Given the description of an element on the screen output the (x, y) to click on. 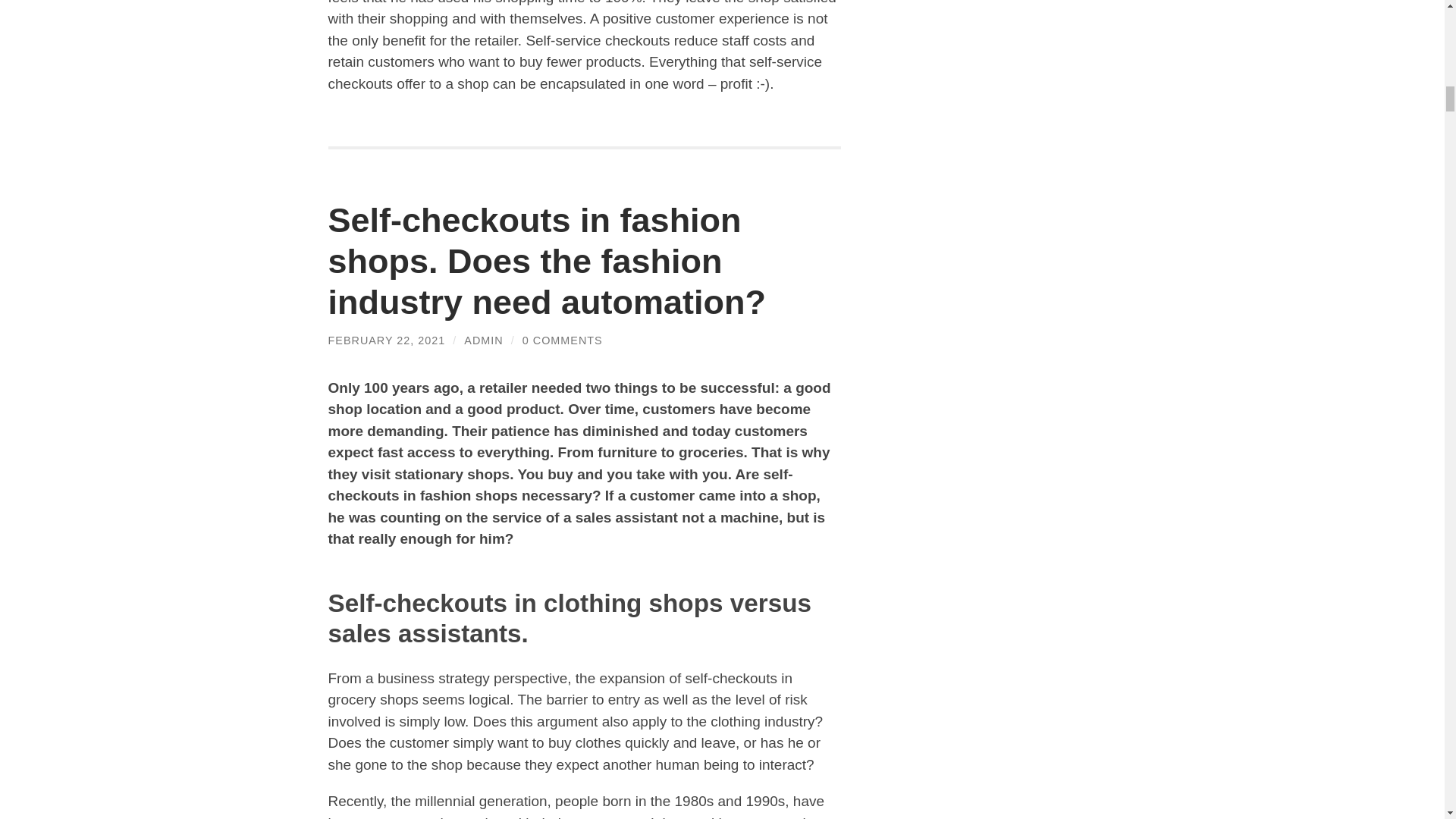
ADMIN (483, 340)
0 COMMENTS (562, 340)
FEBRUARY 22, 2021 (386, 340)
Posts by admin (483, 340)
